Given the description of an element on the screen output the (x, y) to click on. 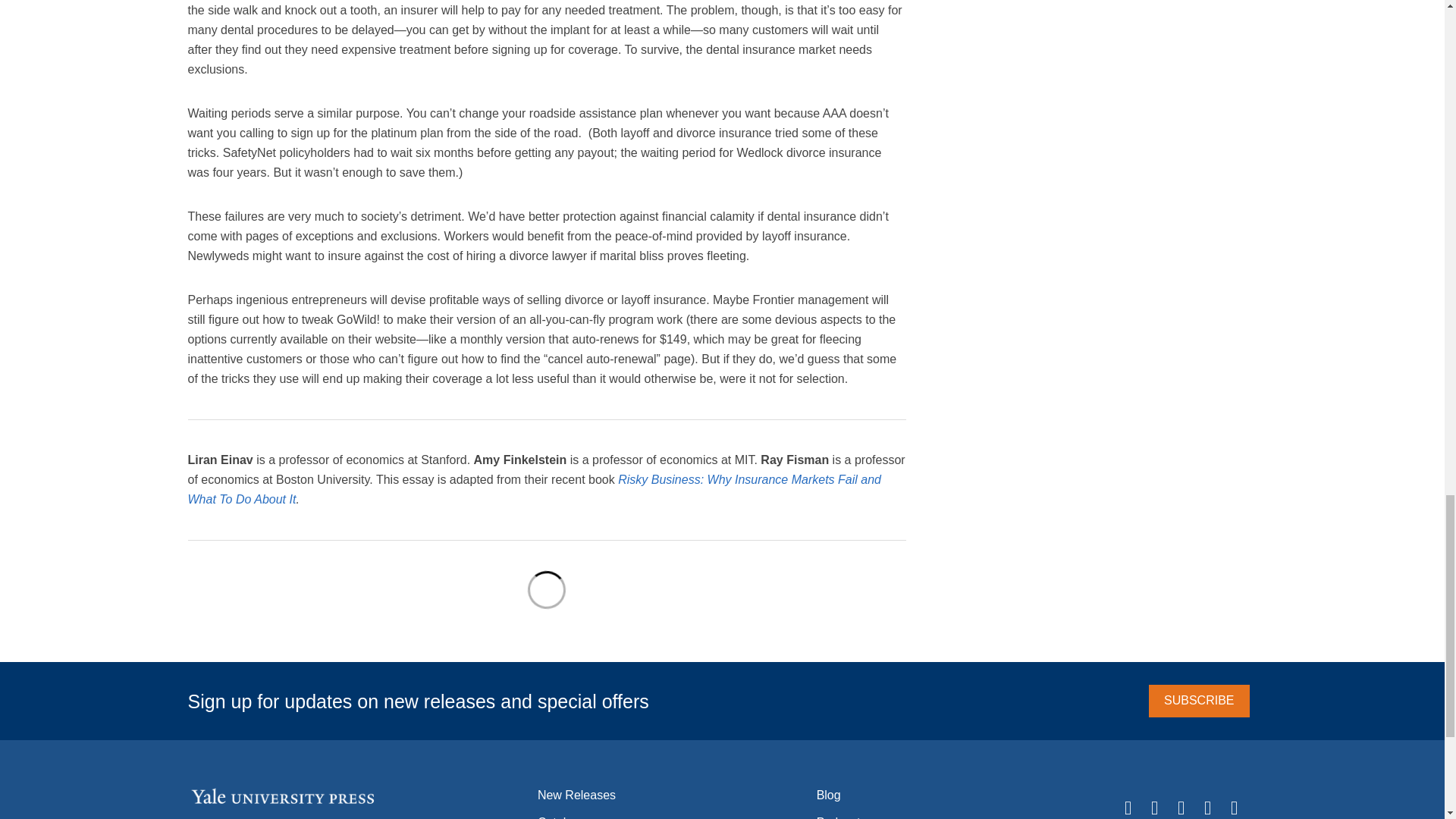
Follow us on Facebook (1154, 807)
Follow us on YouTube (1233, 807)
Follow us on Instagram (1180, 807)
Follow us on TikTok (1208, 807)
